Given the description of an element on the screen output the (x, y) to click on. 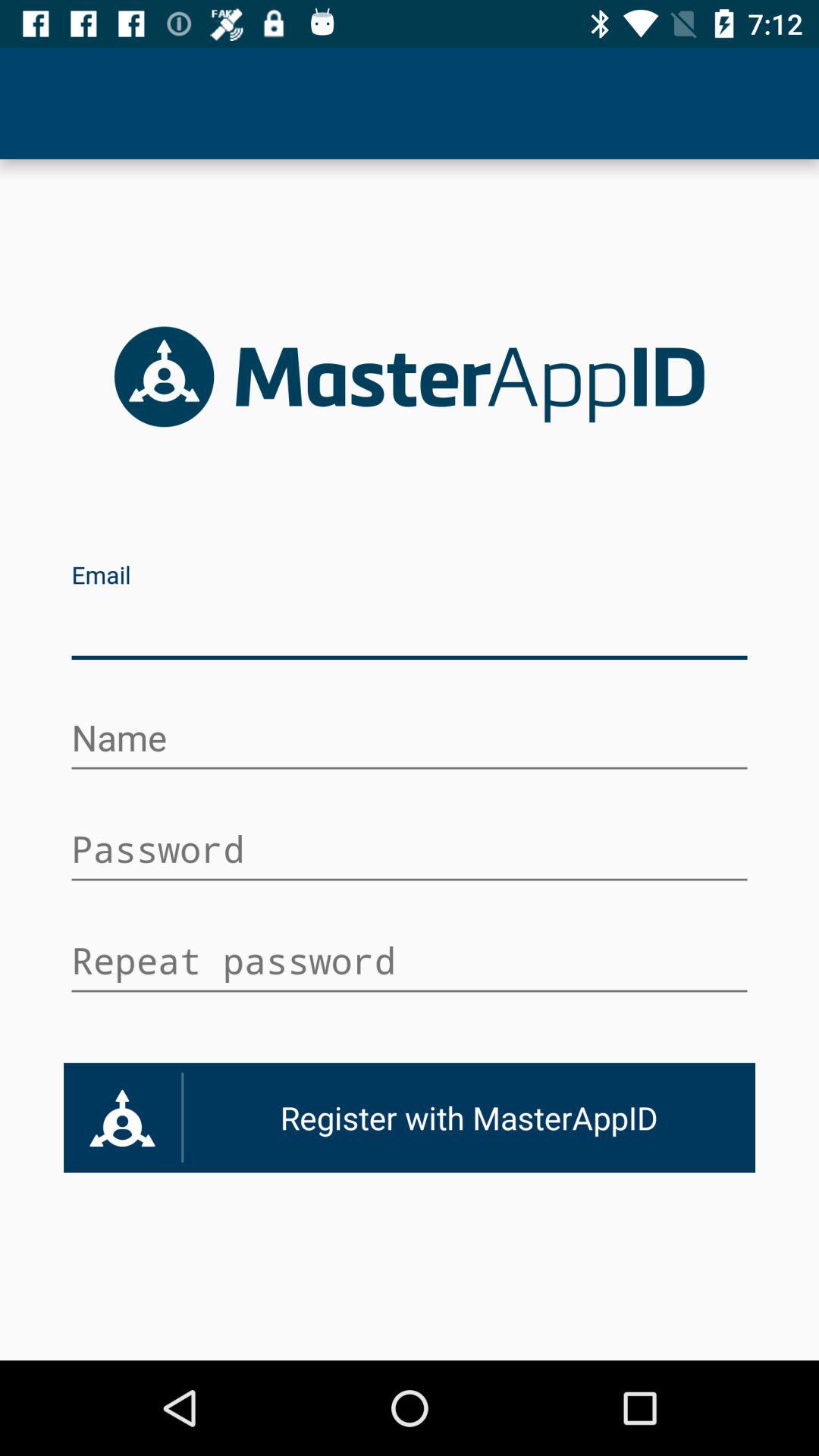
email (409, 628)
